Given the description of an element on the screen output the (x, y) to click on. 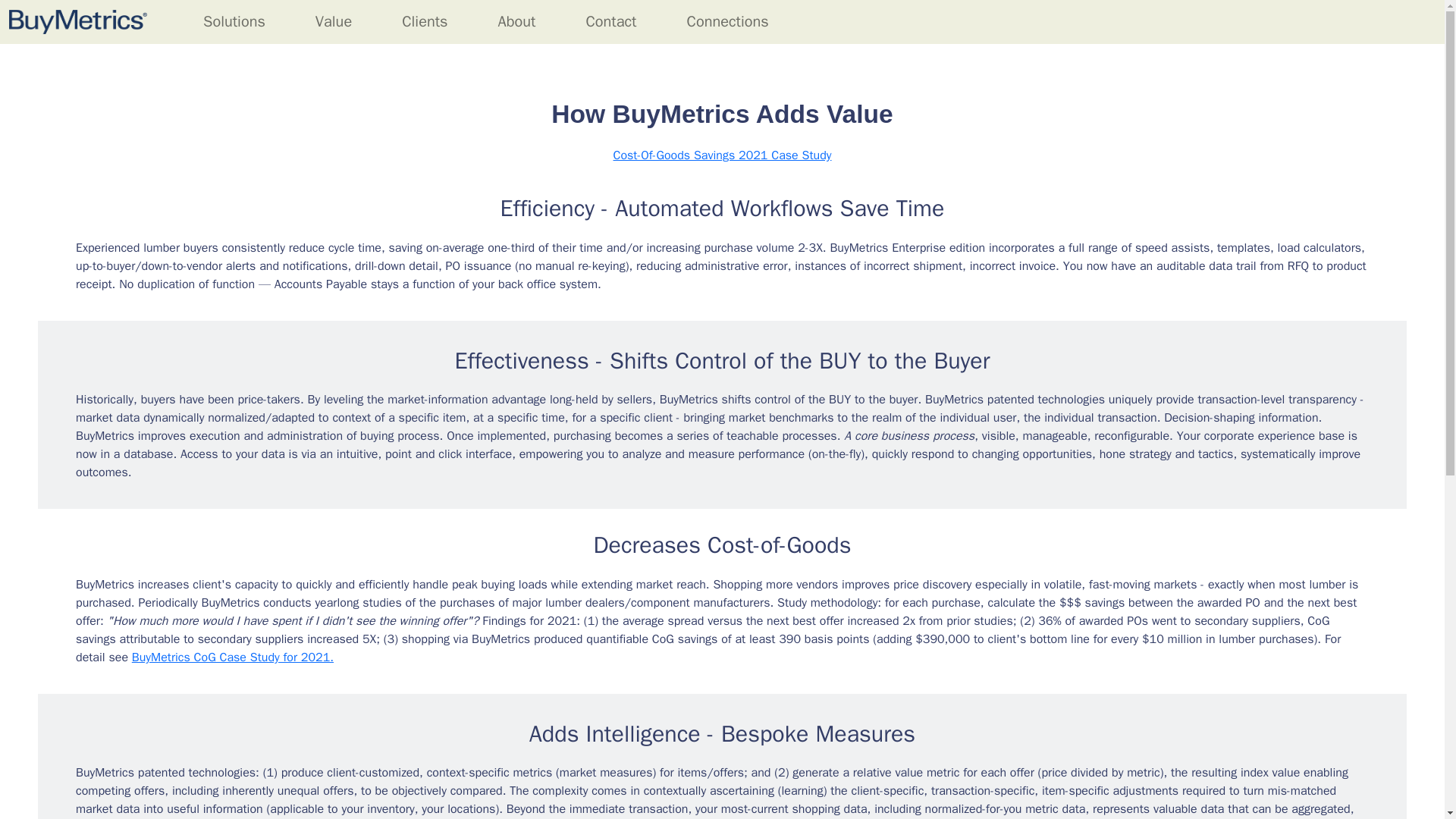
Value (333, 21)
Cost-Of-Goods Savings 2021 Case Study (721, 155)
Connections (727, 21)
Solutions (233, 21)
BuyMetrics CoG Case Study for 2021. (232, 657)
Clients (424, 21)
About (516, 21)
Contact (610, 21)
